Given the description of an element on the screen output the (x, y) to click on. 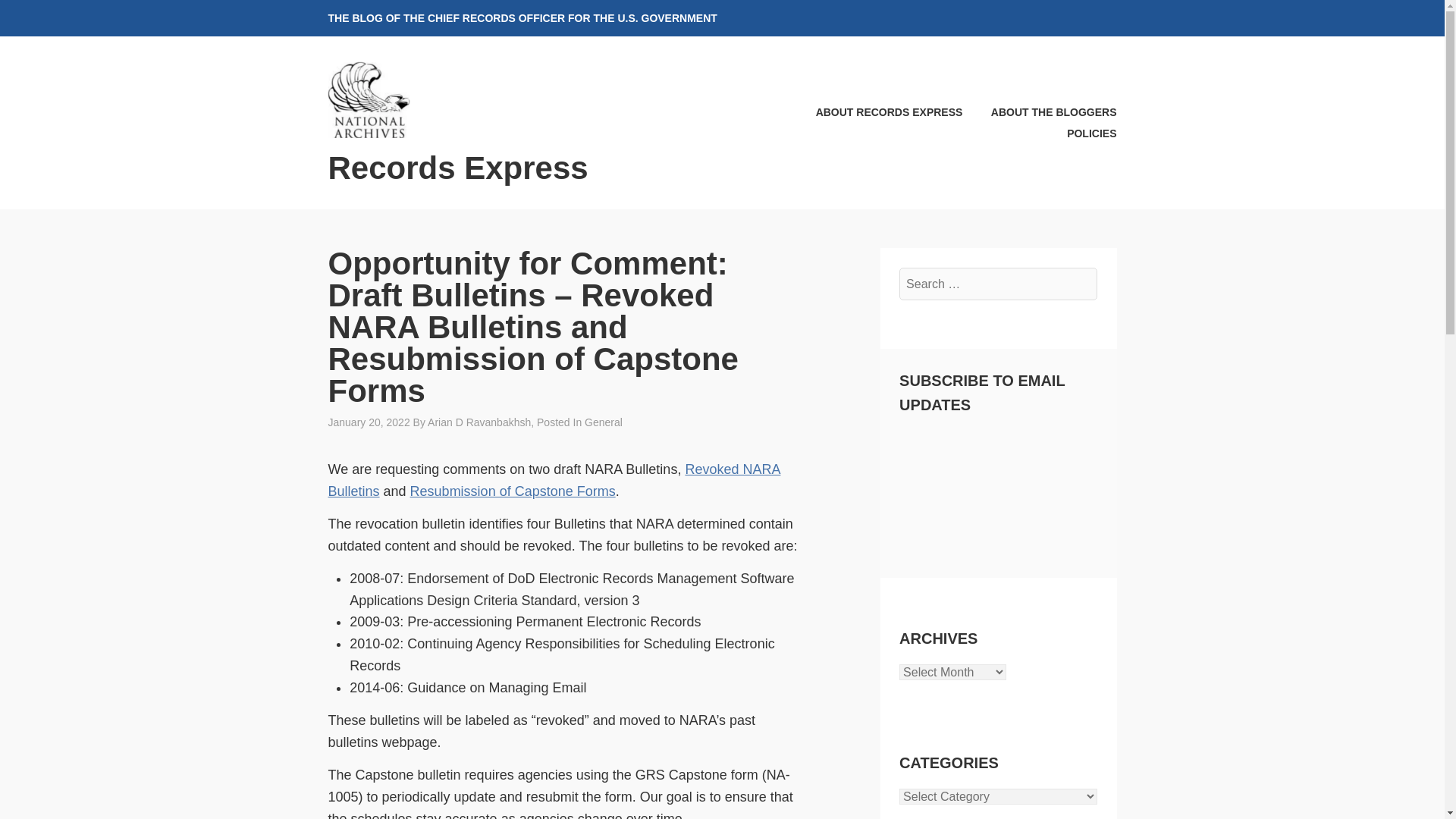
Resubmission of Capstone Forms (512, 491)
January 20, 2022 (368, 422)
ABOUT THE BLOGGERS (1040, 111)
Search (48, 17)
Revoked NARA Bulletins (553, 479)
ABOUT RECORDS EXPRESS (876, 111)
POLICIES (1079, 133)
Records Express (457, 167)
Arian D Ravanbakhsh (479, 422)
General (604, 422)
